Given the description of an element on the screen output the (x, y) to click on. 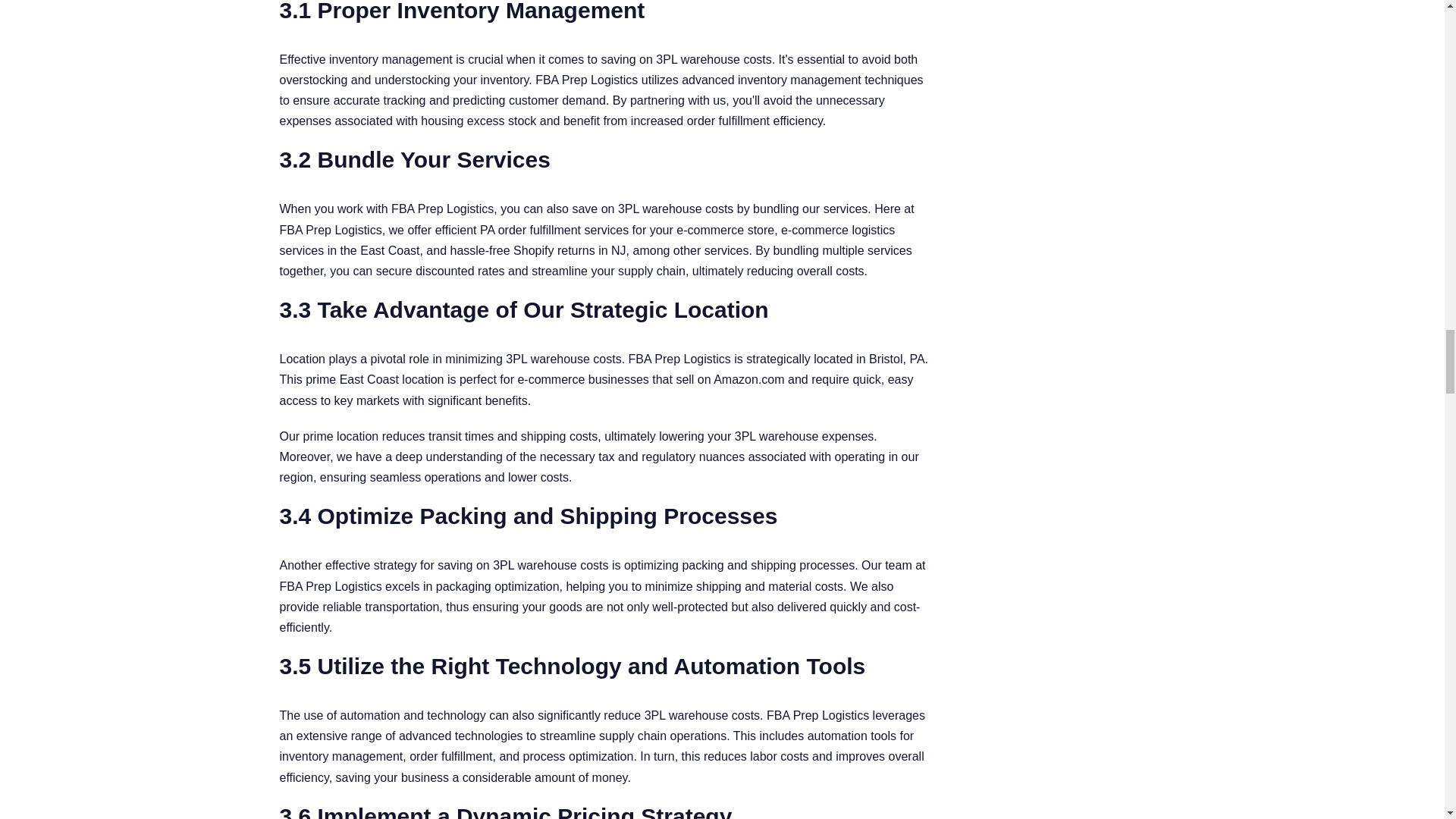
e-commerce logistics services in the East Coast (587, 240)
hassle-free Shopify returns in NJ (537, 250)
advanced technologies (460, 735)
efficient PA order fulfillment services (531, 229)
significant benefits (477, 400)
tax and regulatory nuances (671, 456)
reliable transportation (380, 606)
